Given the description of an element on the screen output the (x, y) to click on. 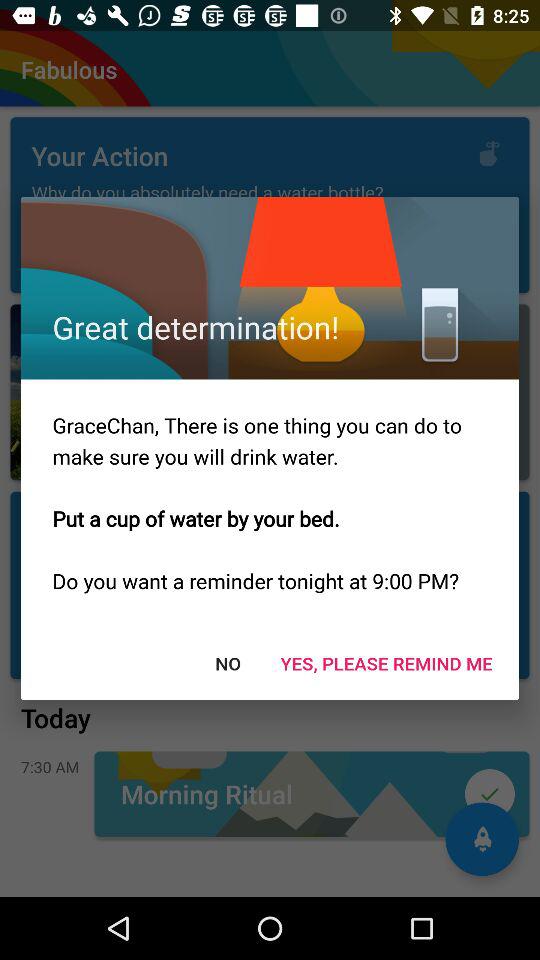
select item to the right of no (386, 662)
